Given the description of an element on the screen output the (x, y) to click on. 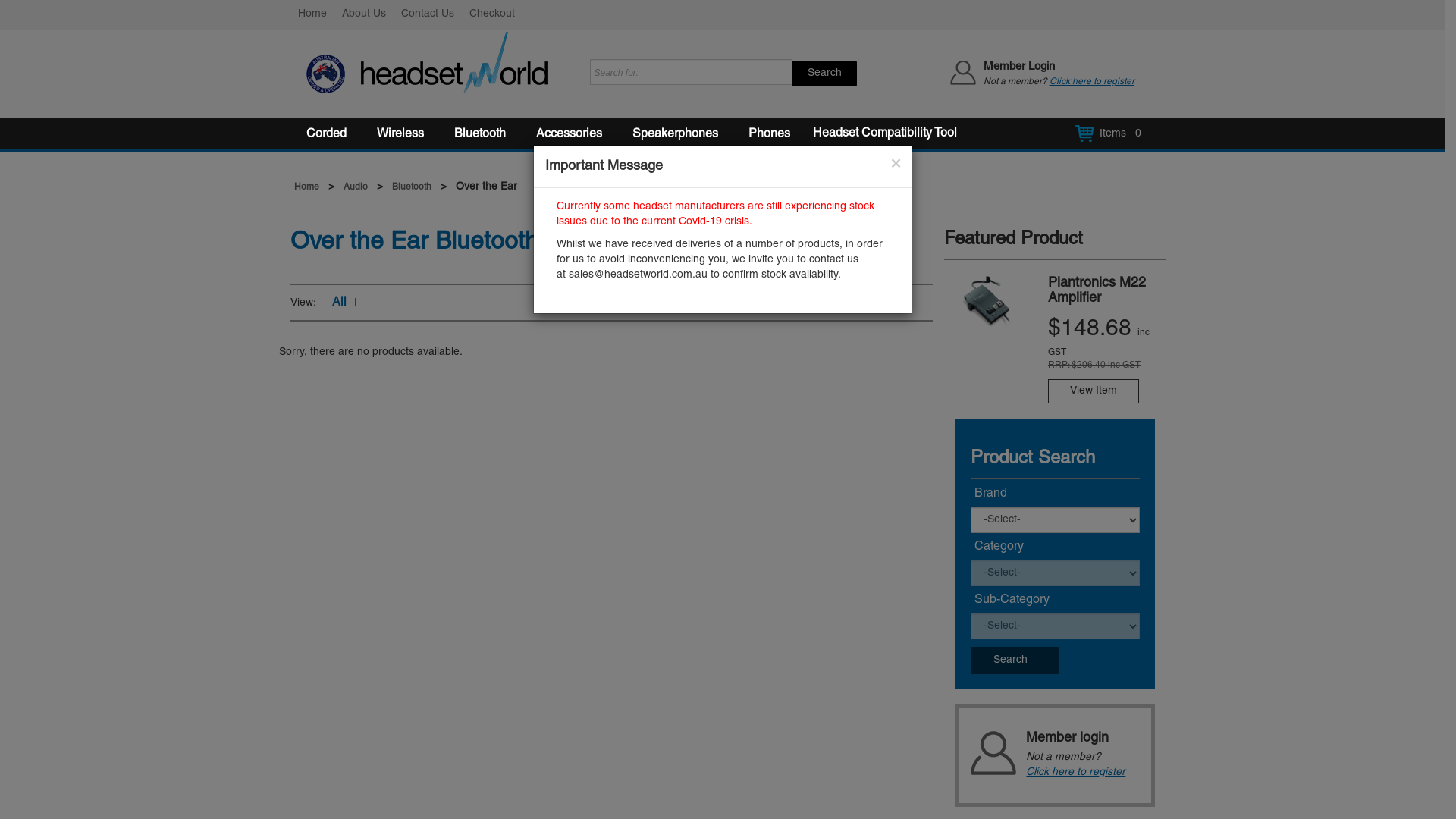
Accessories Element type: text (568, 133)
Click here to register Element type: text (1075, 772)
Headset Compatibility Tool Element type: text (884, 133)
Member login Element type: text (1082, 746)
View Item Element type: text (1093, 391)
Corded Element type: text (326, 133)
Home Element type: text (306, 186)
Member Login Element type: text (1018, 67)
  Items   0   Element type: text (1110, 133)
All Element type: text (339, 302)
Click here to register Element type: text (1091, 81)
Bluetooth Element type: text (479, 133)
Speakerphones Element type: text (675, 133)
Search Element type: text (823, 73)
Bluetooth Element type: text (410, 186)
Phones Element type: text (768, 133)
Wireless Element type: text (399, 133)
Audio Element type: text (354, 186)
